Given the description of an element on the screen output the (x, y) to click on. 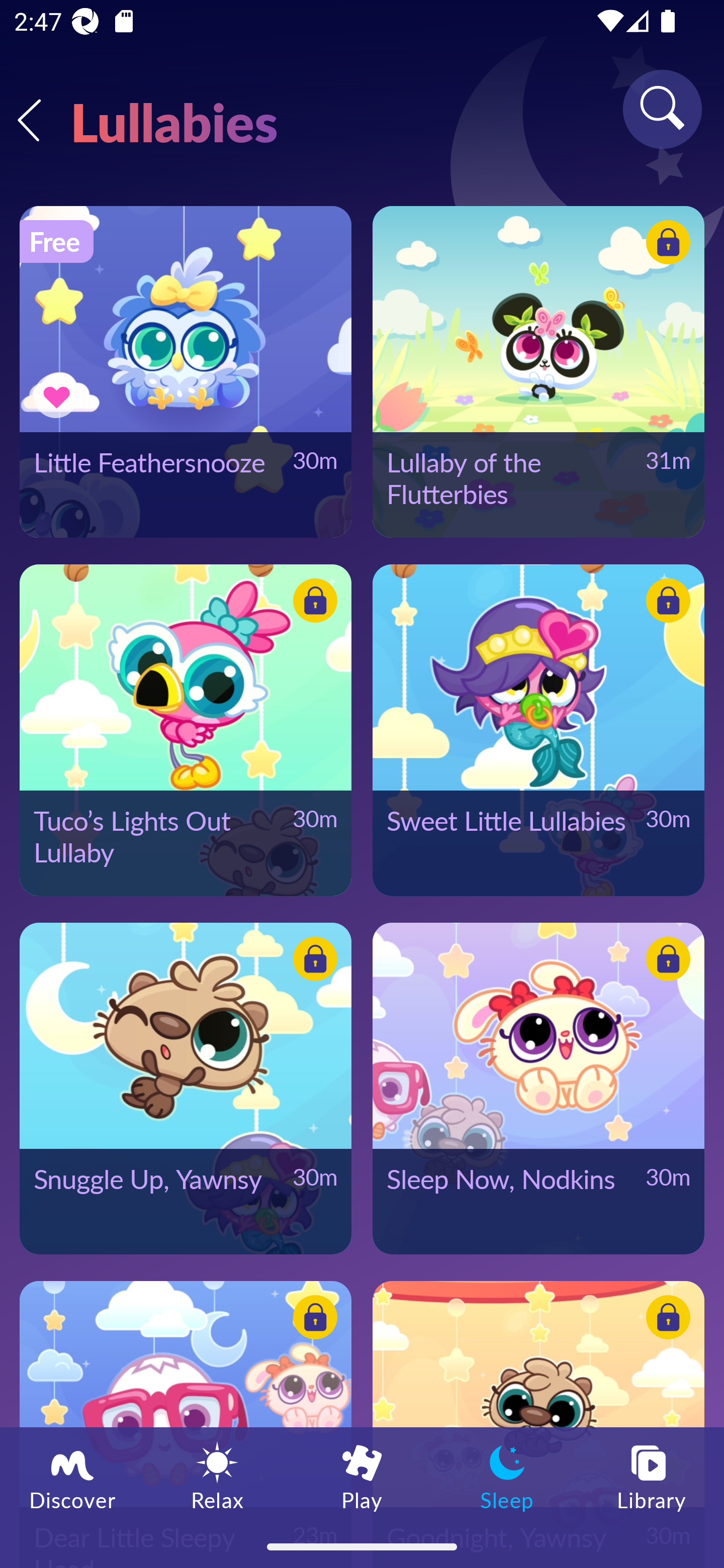
Button (665, 244)
Button (58, 395)
Button (311, 603)
Featured Content Button Sweet Little Lullabies 30m (538, 729)
Button (665, 603)
Featured Content Button Snuggle Up, Yawnsy 30m (185, 1087)
Button (311, 960)
Featured Content Button Sleep Now, Nodkins 30m (538, 1087)
Button (665, 960)
Button (311, 1320)
Featured Content Button Goodnight, Yawnsy 30m (538, 1424)
Button (665, 1320)
Discover (72, 1475)
Relax (216, 1475)
Play (361, 1475)
Library (651, 1475)
